Given the description of an element on the screen output the (x, y) to click on. 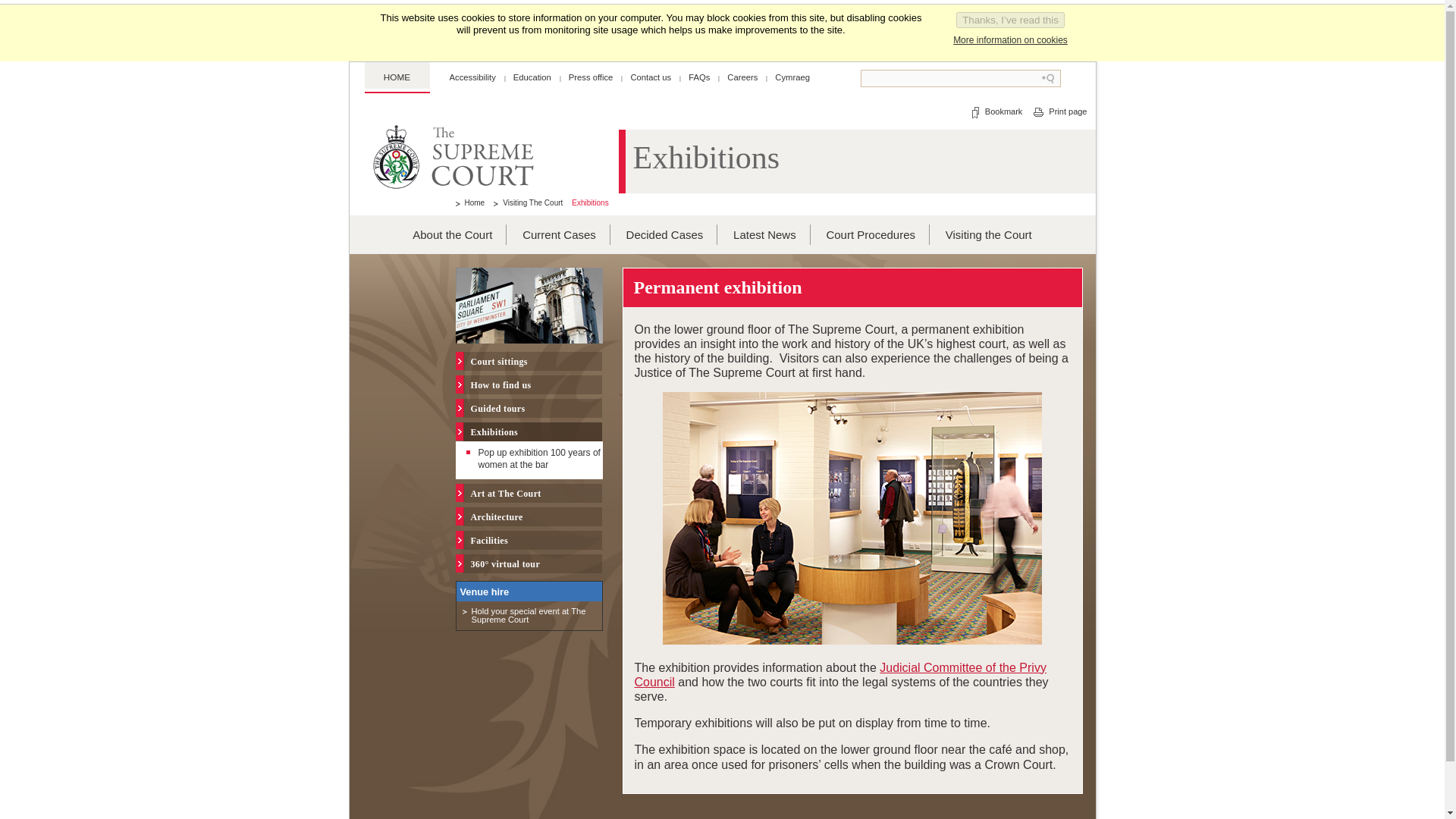
Pop up exhibition 100 years of women at the bar (538, 458)
Court sittings (533, 361)
Careers (741, 76)
PDF - Opens new window (529, 615)
Print page (1058, 112)
Contact us (650, 76)
Cymraeg (791, 76)
FAQs (699, 76)
Print page (1058, 112)
Latest News (764, 234)
Guided tours (533, 407)
Education (532, 76)
Court Procedures (870, 234)
About the Court (451, 234)
Visiting The Court (527, 202)
